Given the description of an element on the screen output the (x, y) to click on. 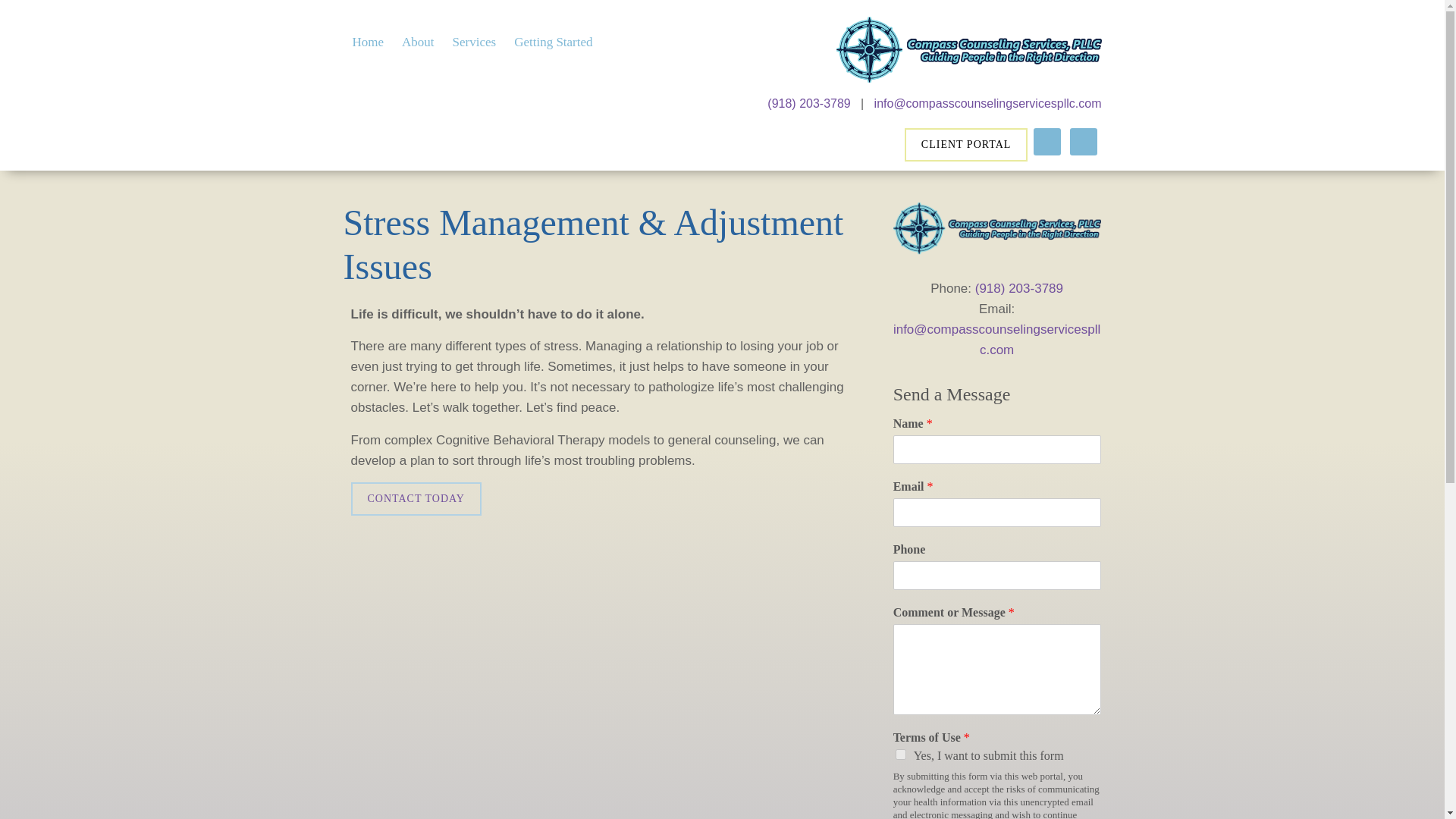
Yes, I want to submit this form (900, 754)
Services (474, 41)
Facebook (1047, 141)
Home (367, 41)
Getting Started (553, 41)
Instagram (1082, 141)
CONTACT TODAY (415, 498)
Instagram (1083, 141)
About (418, 41)
Facebook (1045, 141)
